Given the description of an element on the screen output the (x, y) to click on. 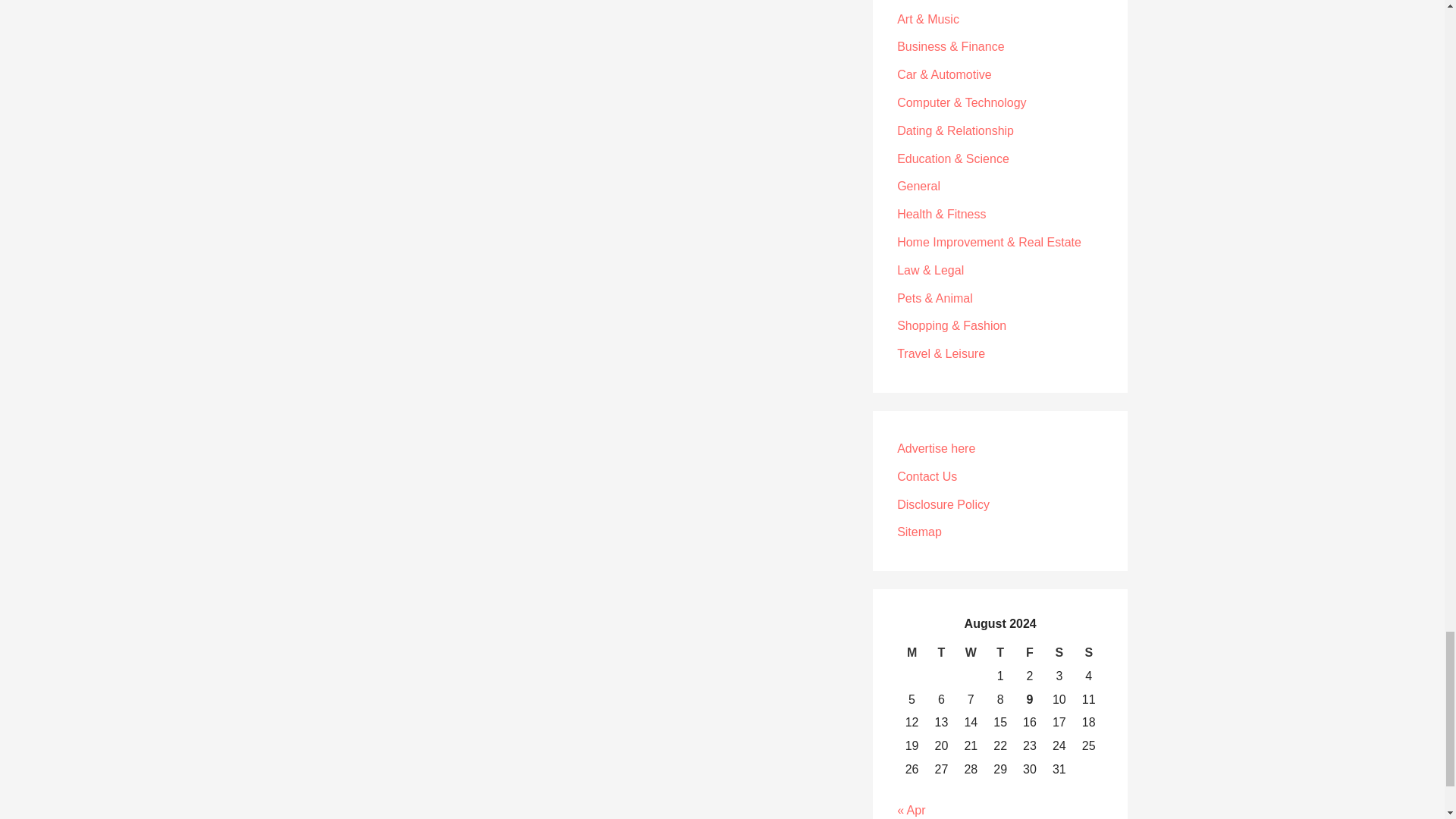
Thursday (999, 653)
Sunday (1088, 653)
Tuesday (941, 653)
Friday (1029, 653)
Saturday (1058, 653)
Monday (911, 653)
Wednesday (970, 653)
